Given the description of an element on the screen output the (x, y) to click on. 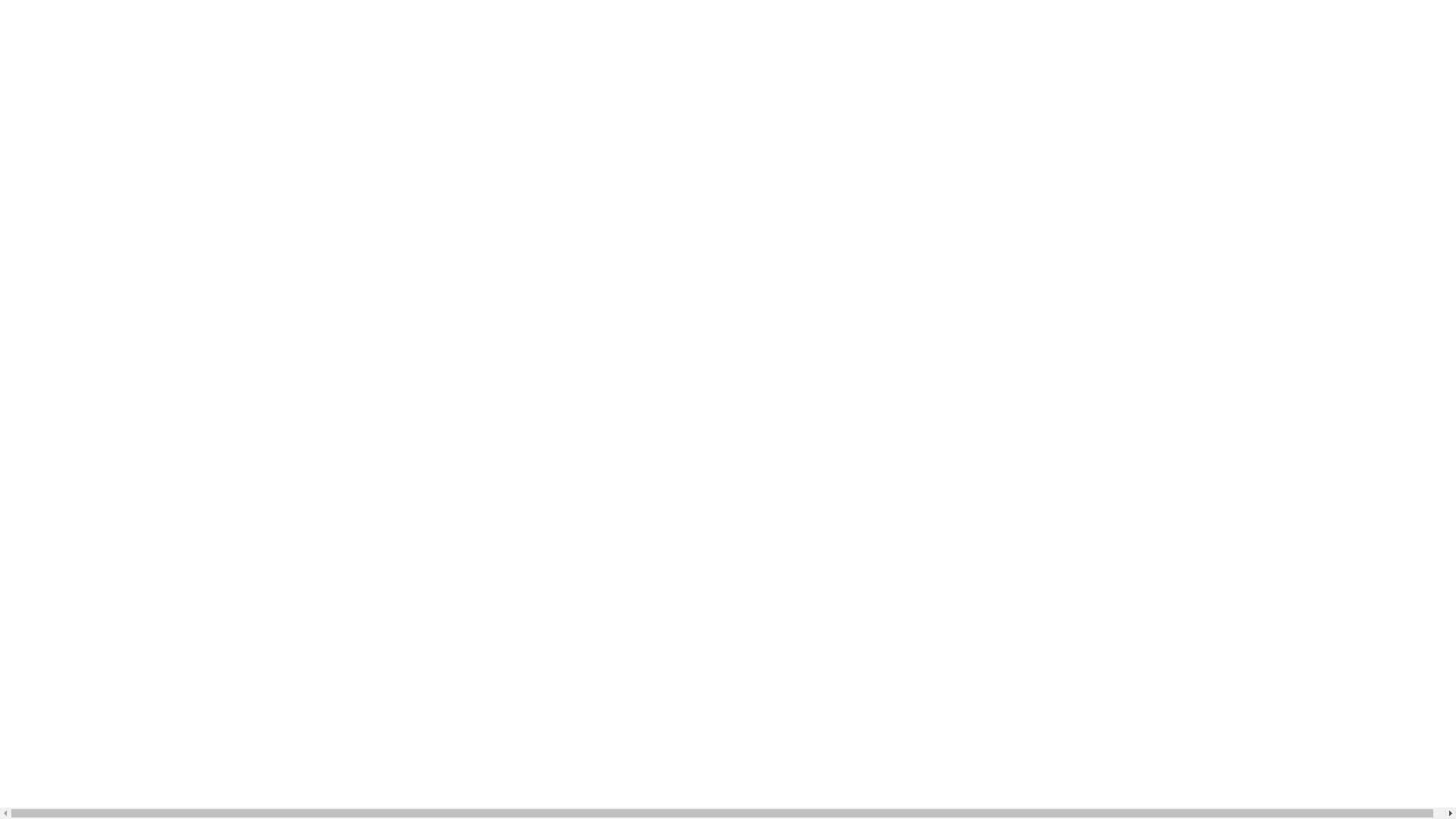
contact Element type: text (604, 52)
Adrienne Barman Element type: text (57, 52)
boutique Element type: text (475, 52)
livres Element type: text (219, 52)
contact@adrienne.ch Element type: text (791, 412)
Adrienne Barman Element type: text (52, 32)
